Given the description of an element on the screen output the (x, y) to click on. 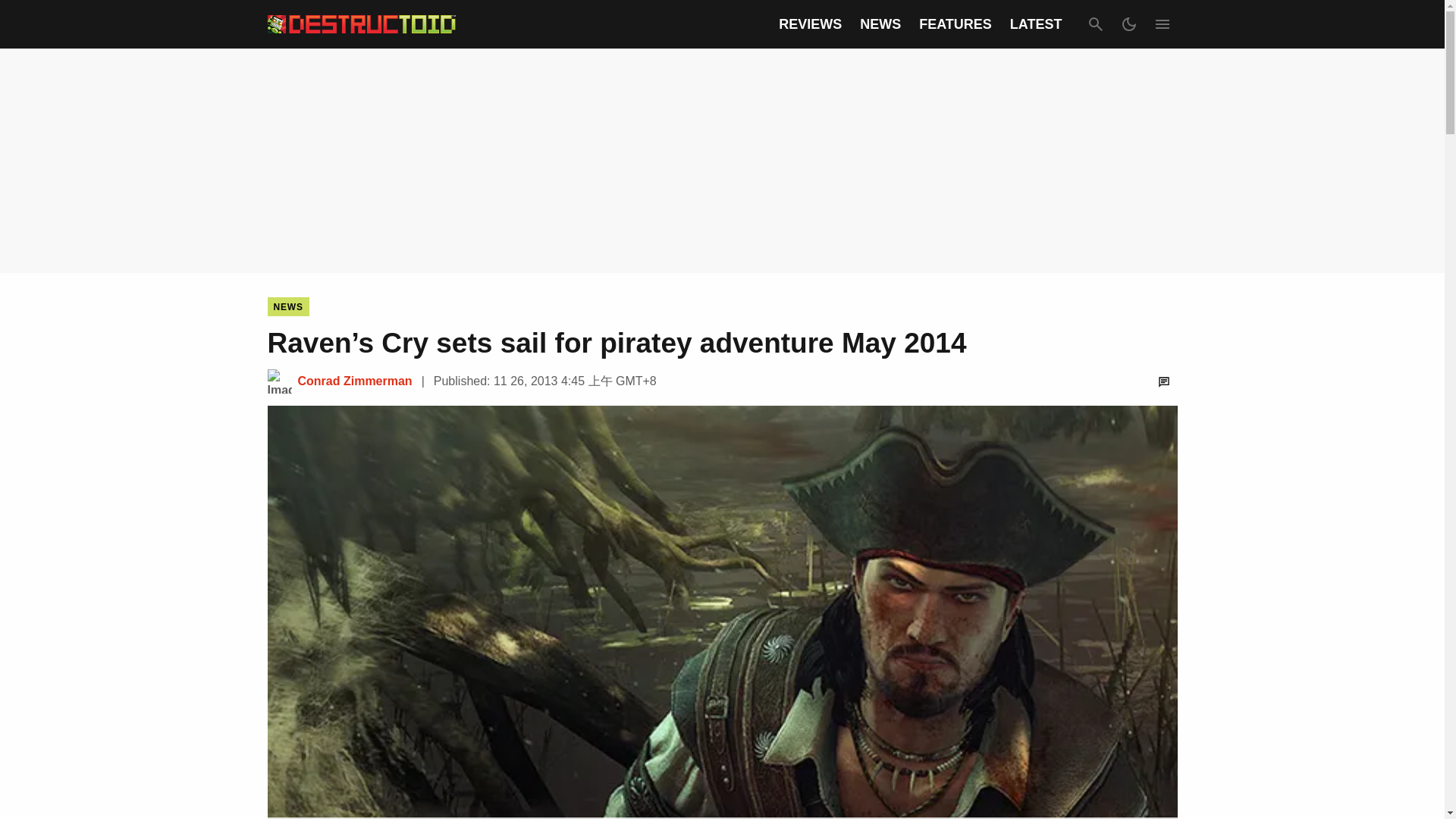
LATEST (1036, 23)
REVIEWS (809, 23)
Dark Mode (1127, 24)
Expand Menu (1161, 24)
Search (1094, 24)
NEWS (287, 306)
FEATURES (954, 23)
NEWS (880, 23)
